Given the description of an element on the screen output the (x, y) to click on. 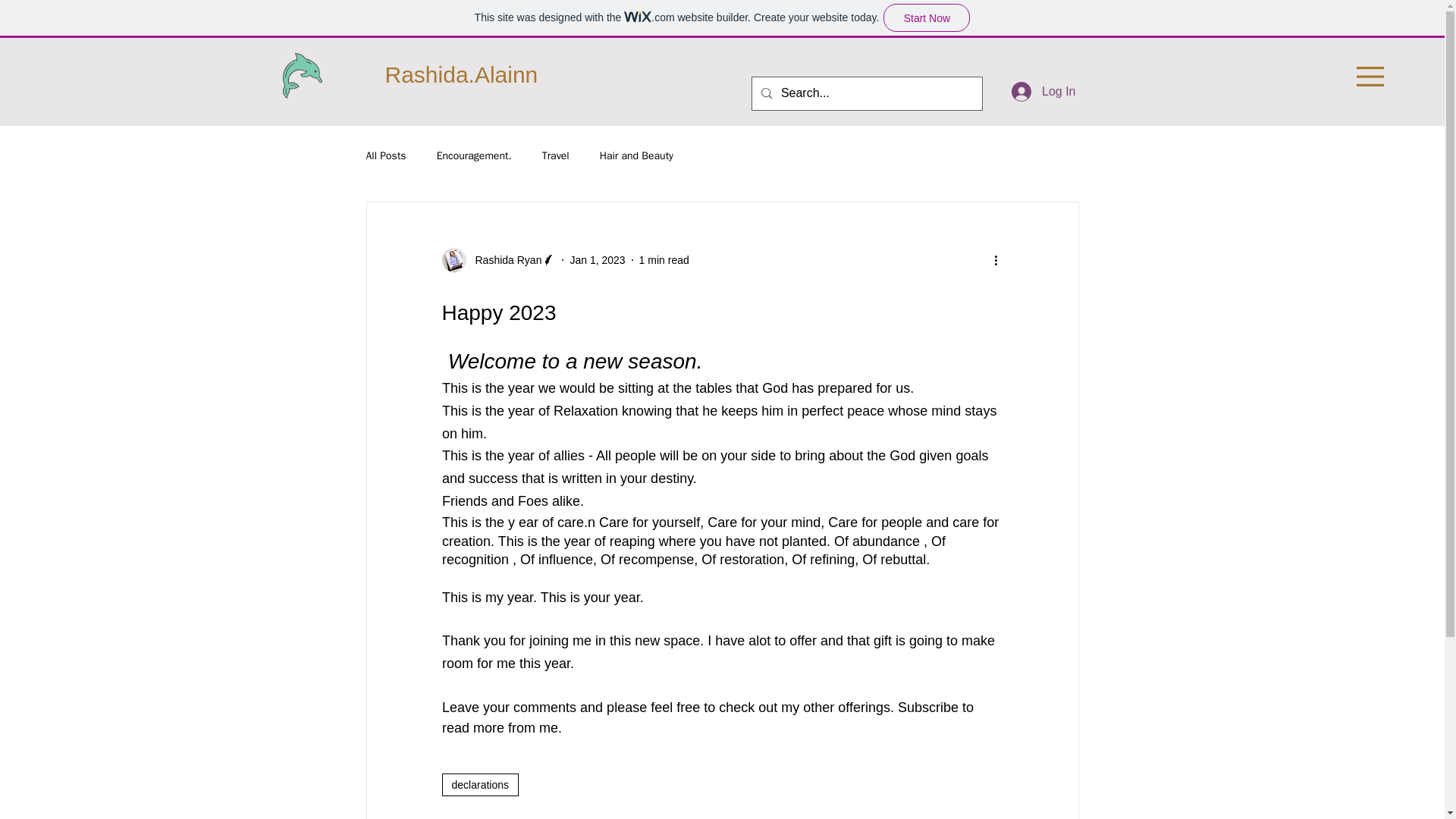
Rashida.Alainn (461, 74)
Hair and Beauty (635, 155)
declarations (479, 784)
Rashida Ryan  (503, 259)
Encouragement. (474, 155)
All Posts (385, 155)
Travel (555, 155)
Jan 1, 2023 (596, 259)
1 min read (663, 259)
Rashida Ryan (498, 259)
